Given the description of an element on the screen output the (x, y) to click on. 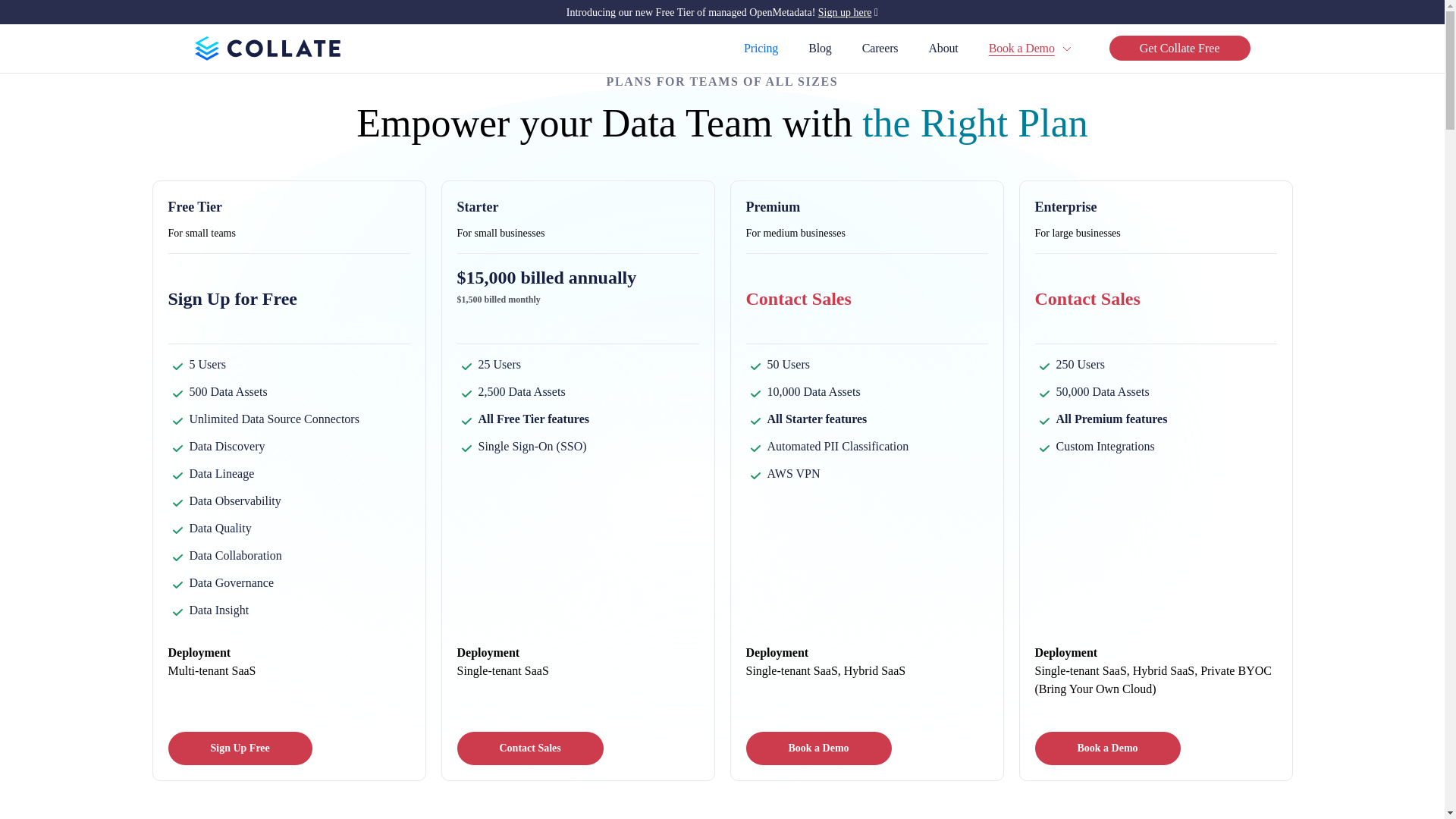
Blog (819, 47)
About (943, 47)
Sign up here (845, 12)
Book a Demo (1021, 48)
Book a Demo (818, 748)
Contact Sales (529, 748)
Book a Demo (1106, 748)
Careers (879, 47)
Sign Up Free (240, 748)
Pricing (760, 47)
Get Collate Free (1179, 48)
Collate (266, 48)
